Given the description of an element on the screen output the (x, y) to click on. 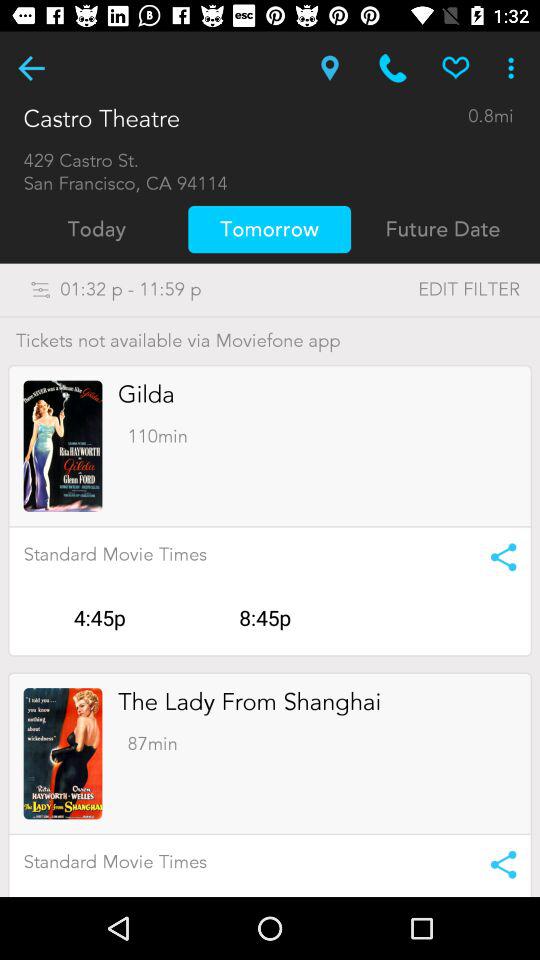
choose the item above the 87min icon (249, 702)
